Given the description of an element on the screen output the (x, y) to click on. 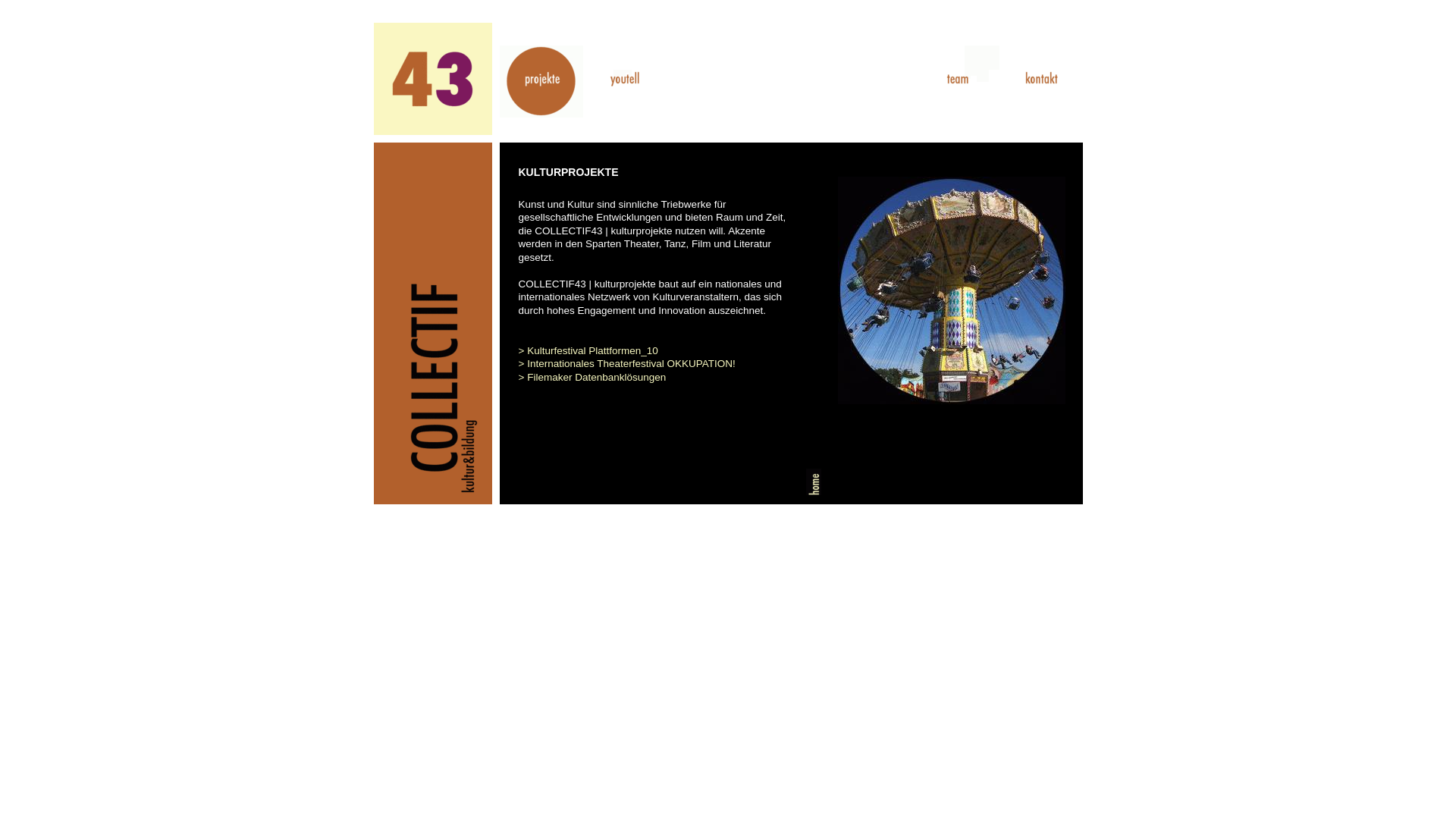
COLLECTIF 43 kultur&bldung Element type: hover (432, 78)
> Kulturfestival Plattformen_10 Element type: text (588, 350)
COLLECTIF 43 kultur&bldung Element type: hover (432, 323)
> Internationales Theaterfestival OKKUPATION! Element type: text (626, 363)
